Given the description of an element on the screen output the (x, y) to click on. 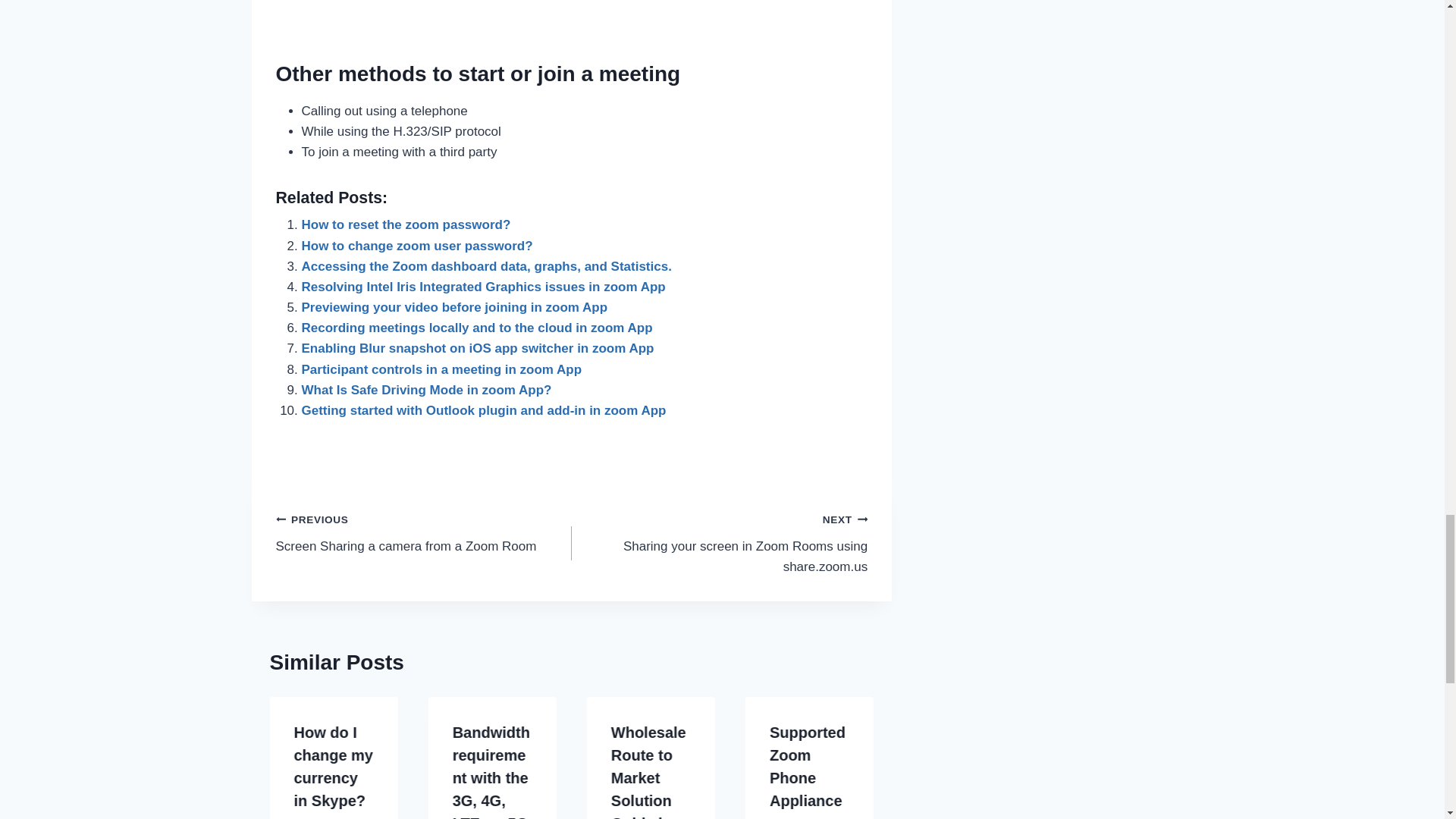
Recording meetings locally and to the cloud in zoom App (476, 327)
How to change zoom user password? (416, 246)
How to reset the zoom password? (406, 224)
How to reset the zoom password? (406, 224)
Enabling Blur snapshot on iOS app switcher in zoom App (477, 348)
Getting started with Outlook plugin and add-in in zoom App (483, 410)
Resolving Intel Iris Integrated Graphics issues in zoom App (483, 287)
Participant controls in a meeting in zoom App (441, 369)
Previewing your video before joining in zoom App (454, 307)
What Is Safe Driving Mode in zoom App? (426, 390)
Accessing the Zoom dashboard data, graphs, and Statistics. (486, 266)
How to change zoom user password? (416, 246)
Resolving Intel Iris Integrated Graphics issues in zoom App (483, 287)
Accessing the Zoom dashboard data, graphs, and Statistics. (486, 266)
